Given the description of an element on the screen output the (x, y) to click on. 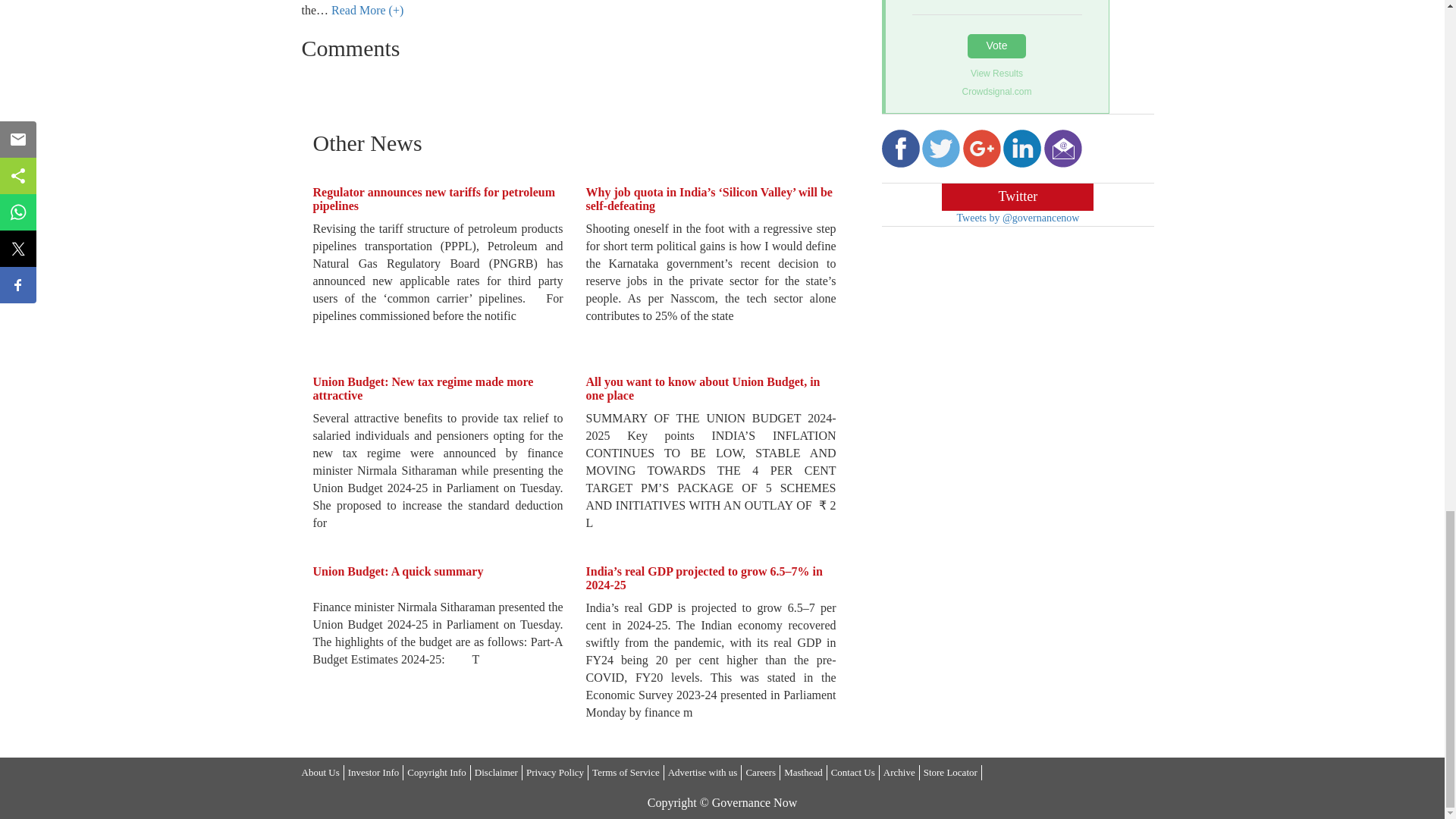
About Us (320, 772)
Twitter (940, 148)
View Results (997, 73)
Regulator announces new tariffs for petroleum pipelines (433, 198)
All you want to know about Union Budget, in one place (702, 388)
Union Budget: A quick summary (398, 571)
Crowdsignal.com (995, 91)
Google Plus (981, 148)
Vote (996, 46)
Union Budget: New tax regime made more attractive (422, 388)
Facebook (899, 148)
